Given the description of an element on the screen output the (x, y) to click on. 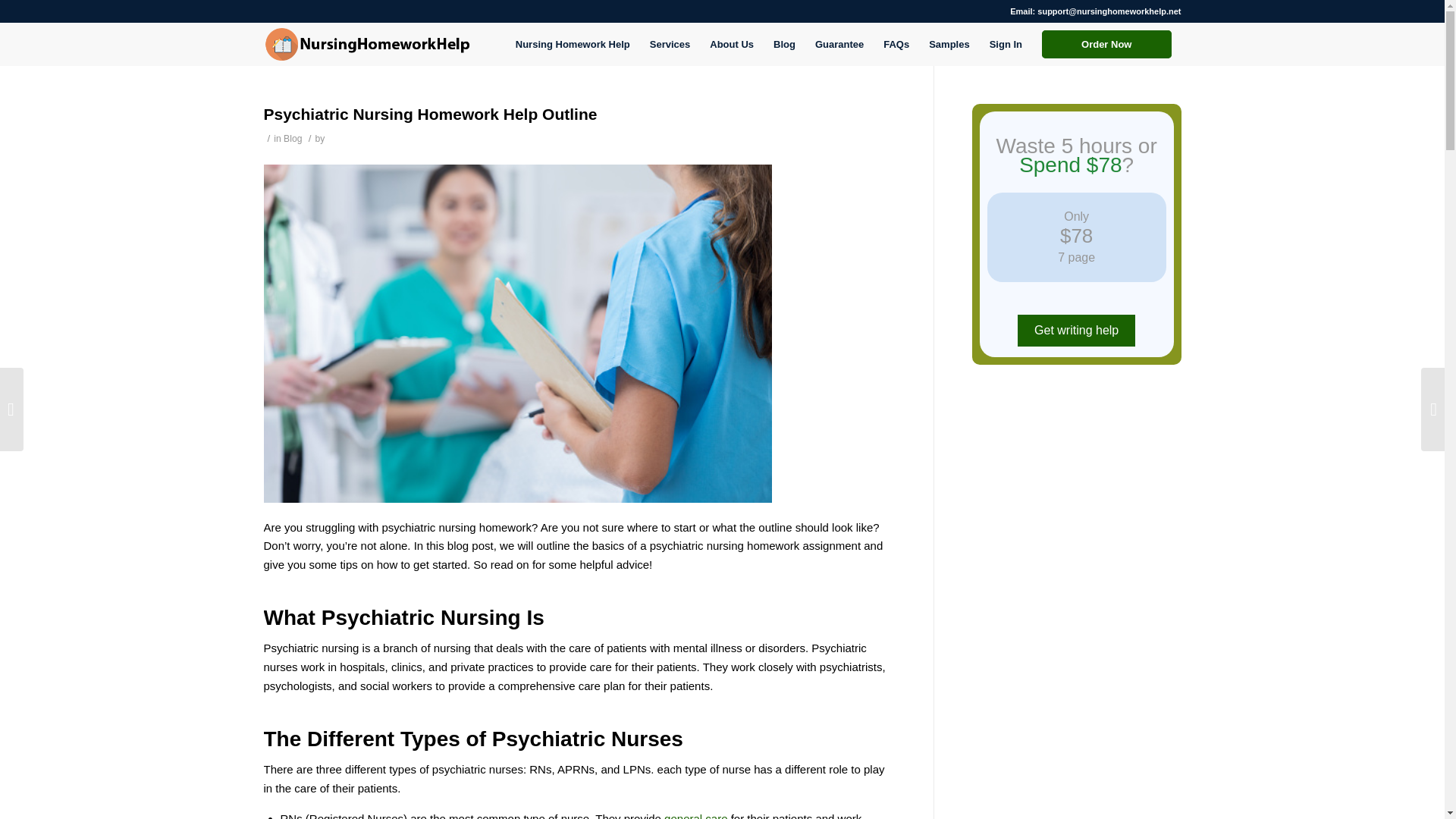
Services (670, 44)
Nursing Homework Help (572, 44)
nhhb (367, 44)
